Given the description of an element on the screen output the (x, y) to click on. 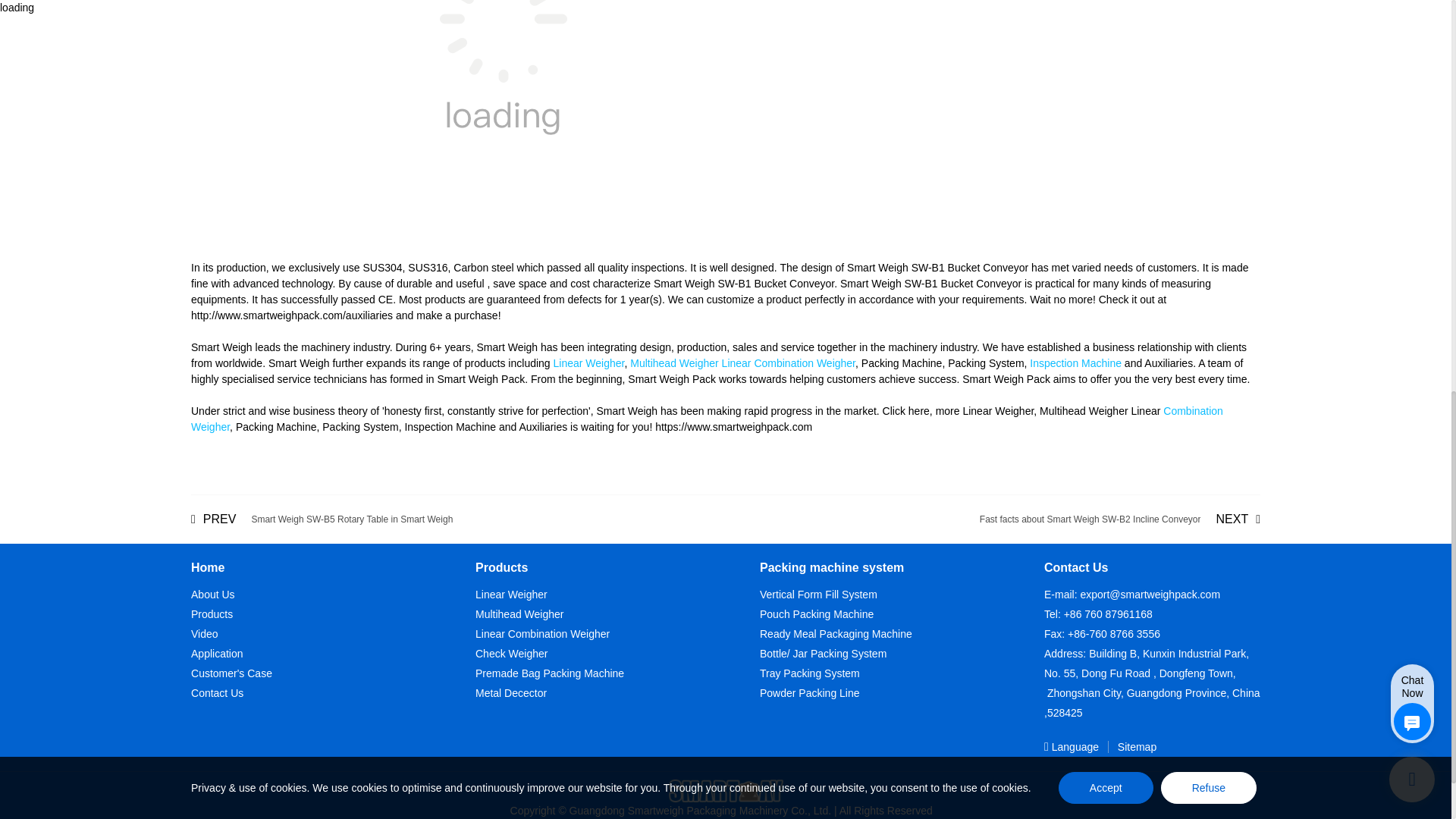
Linear Combination Weigher (789, 363)
Fast facts about Smart Weigh SW-B2 Incline Conveyor (1119, 519)
Combination Weigher (706, 418)
Inspection Machine (1075, 363)
Multihead Weigher (673, 363)
Smart Weigh SW-B5 Rotary Table in Smart Weigh (321, 519)
Linear Weigher (588, 363)
